Given the description of an element on the screen output the (x, y) to click on. 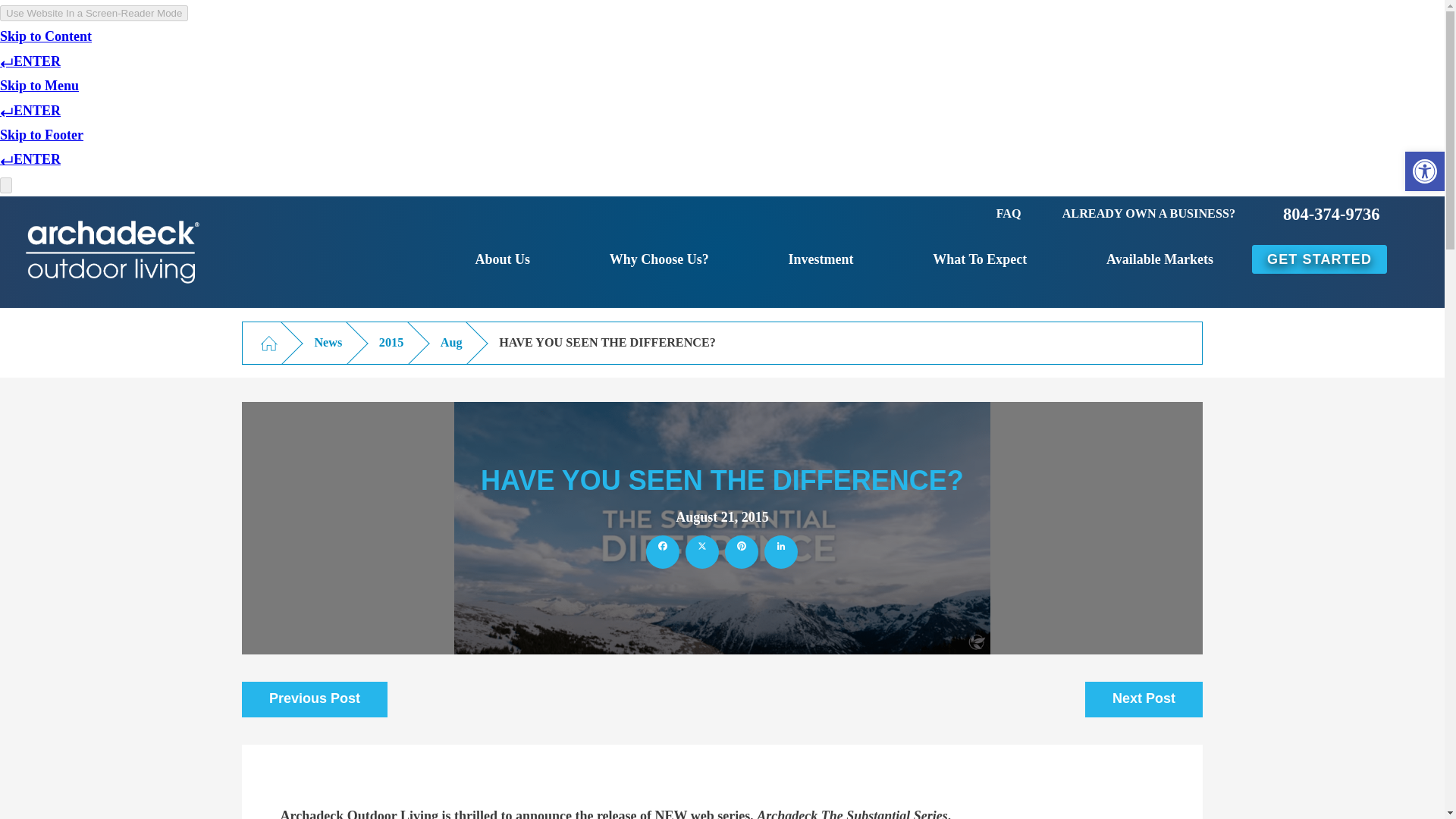
Pinterest (741, 558)
ALREADY OWN A BUSINESS? (1148, 214)
804-374-9736 (1331, 213)
About Us (501, 259)
LinkedIn (780, 558)
Facebook (662, 558)
Accessibility Tools (1424, 170)
Available Markets (1159, 259)
Go Home (269, 342)
Why Choose Us? (659, 259)
Investment (821, 259)
FAQ (1008, 214)
GET STARTED (1319, 258)
X (702, 558)
What To Expect (979, 259)
